Given the description of an element on the screen output the (x, y) to click on. 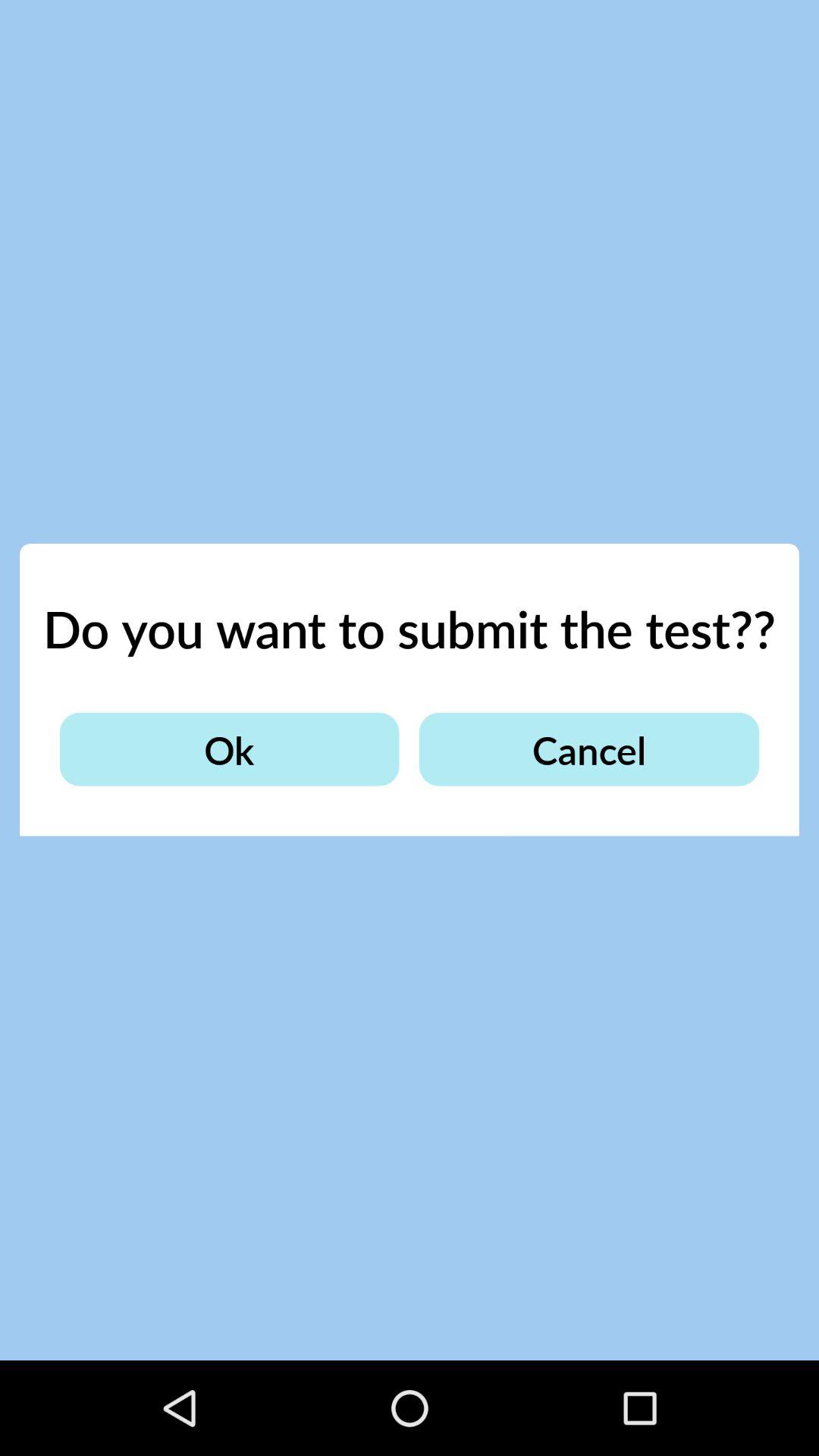
scroll until cancel item (589, 749)
